Given the description of an element on the screen output the (x, y) to click on. 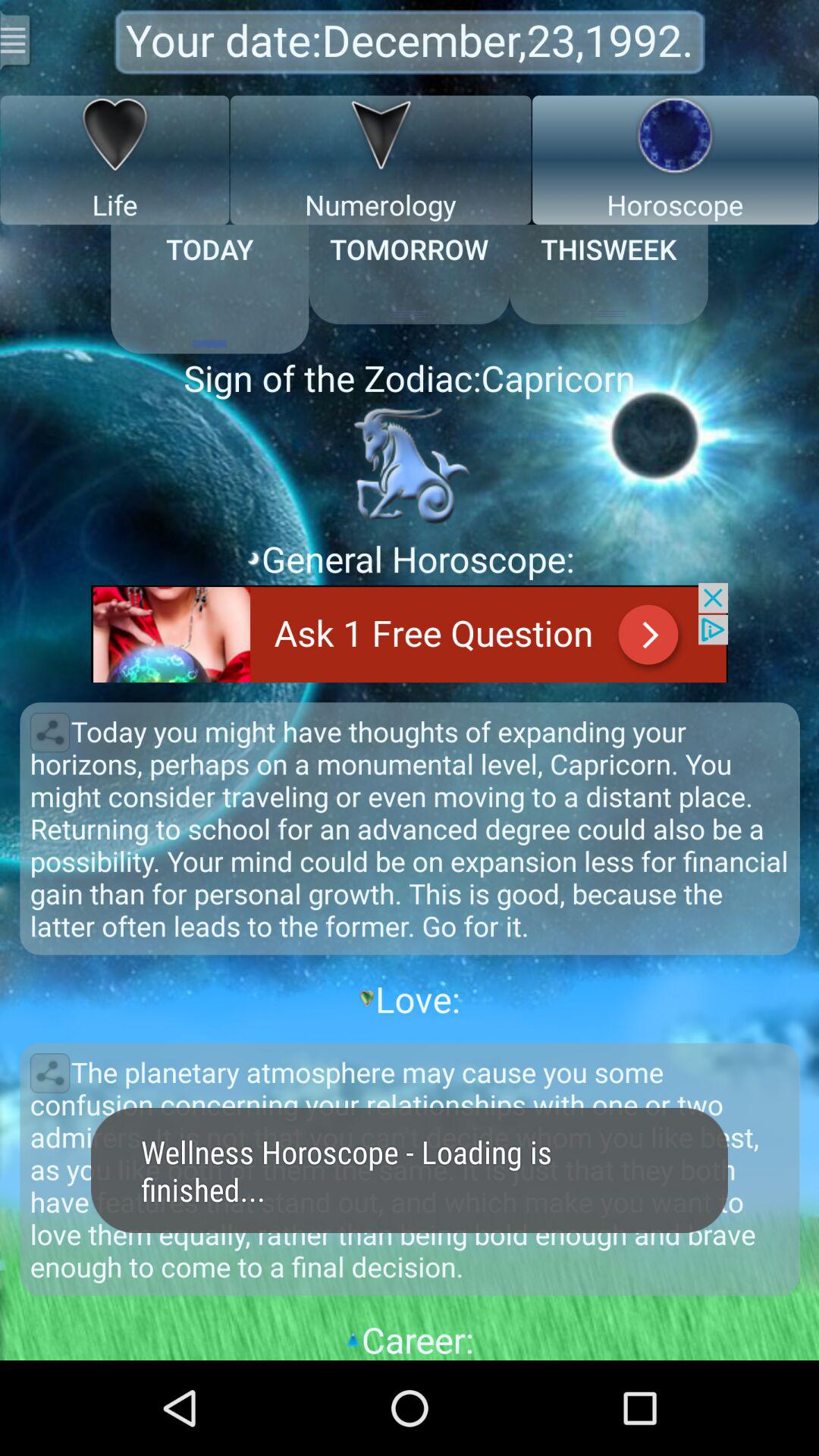
ask i free question (409, 632)
